Given the description of an element on the screen output the (x, y) to click on. 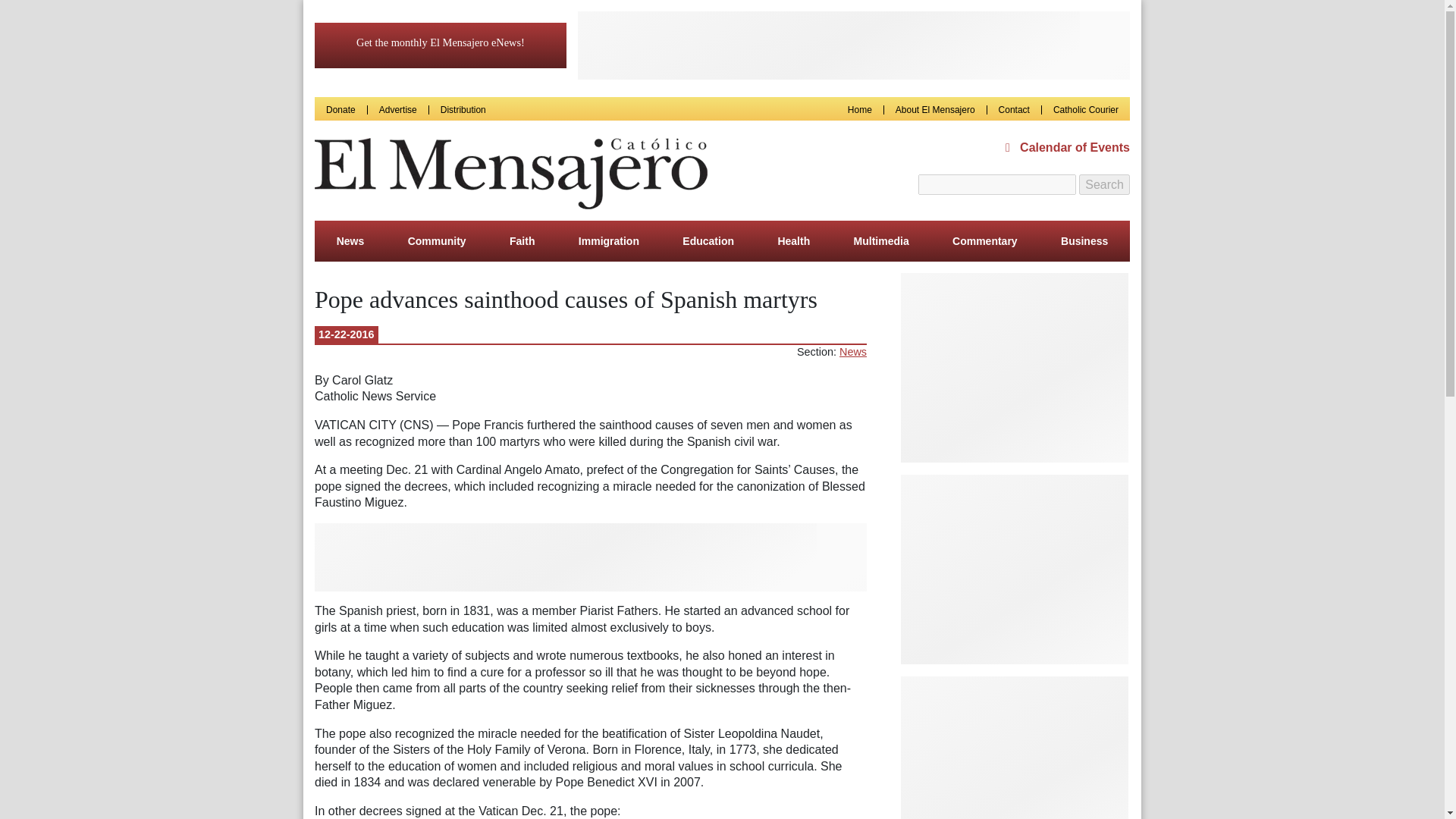
Faith (521, 240)
  Calendar of Events (1067, 147)
Search (1103, 184)
Multimedia (881, 240)
Immigration (608, 240)
Health (793, 240)
3rd party ad content (853, 45)
Commentary (984, 240)
Advertise (397, 108)
Donate (340, 108)
Search (1103, 184)
Community (436, 240)
News (349, 240)
Catholic Courier (1085, 108)
Contact (1013, 108)
